Given the description of an element on the screen output the (x, y) to click on. 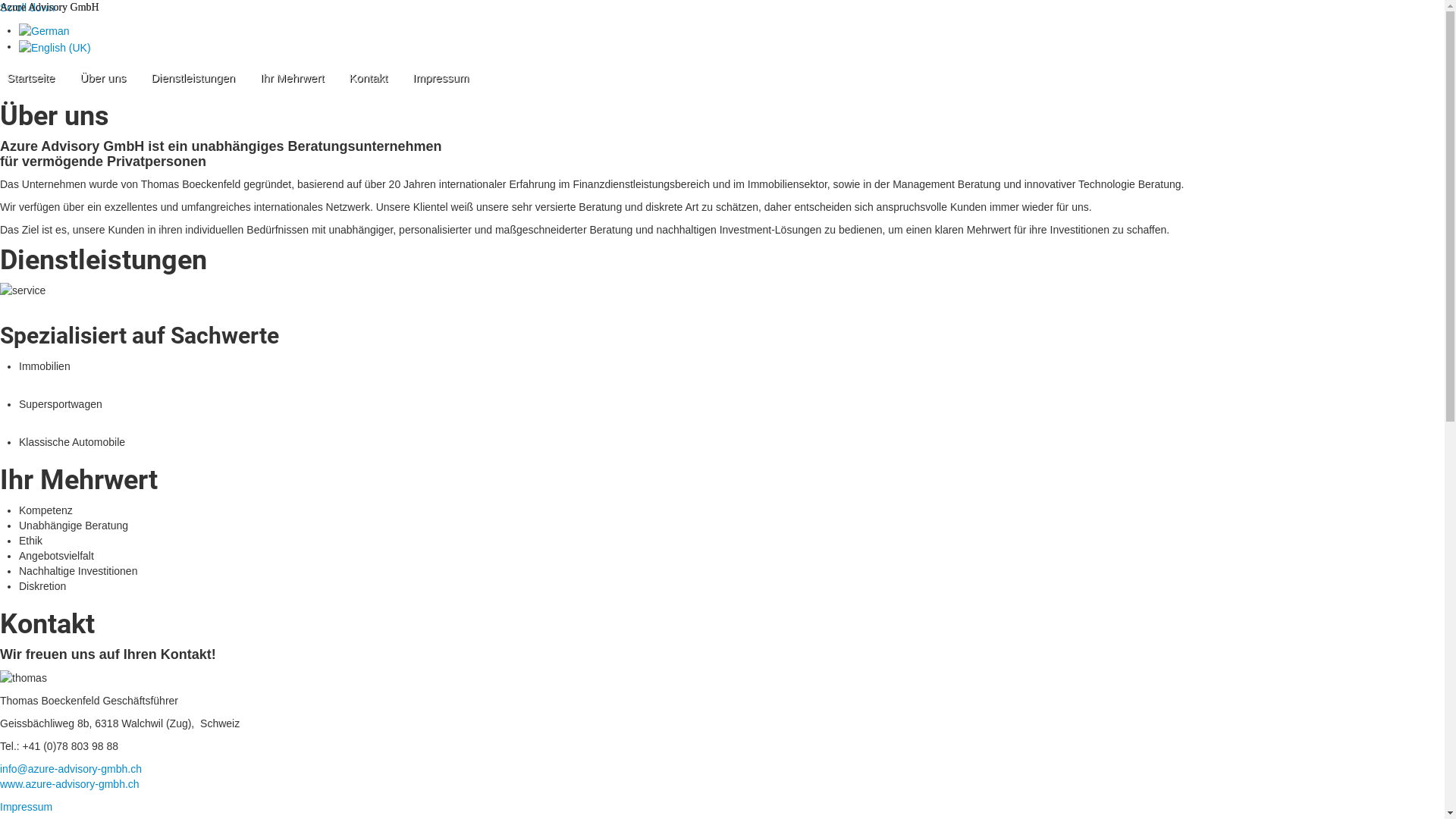
Kontakt Element type: text (367, 77)
German Element type: hover (43, 30)
info@azure-advisory-gmbh.ch Element type: text (70, 768)
Impressum Element type: text (440, 77)
Dienstleistungen Element type: text (192, 77)
Impressum Element type: text (26, 806)
Startseite Element type: text (30, 77)
Scroll down Element type: text (27, 7)
www.azure-advisory-gmbh.ch Element type: text (69, 784)
English (UK) Element type: hover (54, 47)
Ihr Mehrwert Element type: text (291, 77)
